Given the description of an element on the screen output the (x, y) to click on. 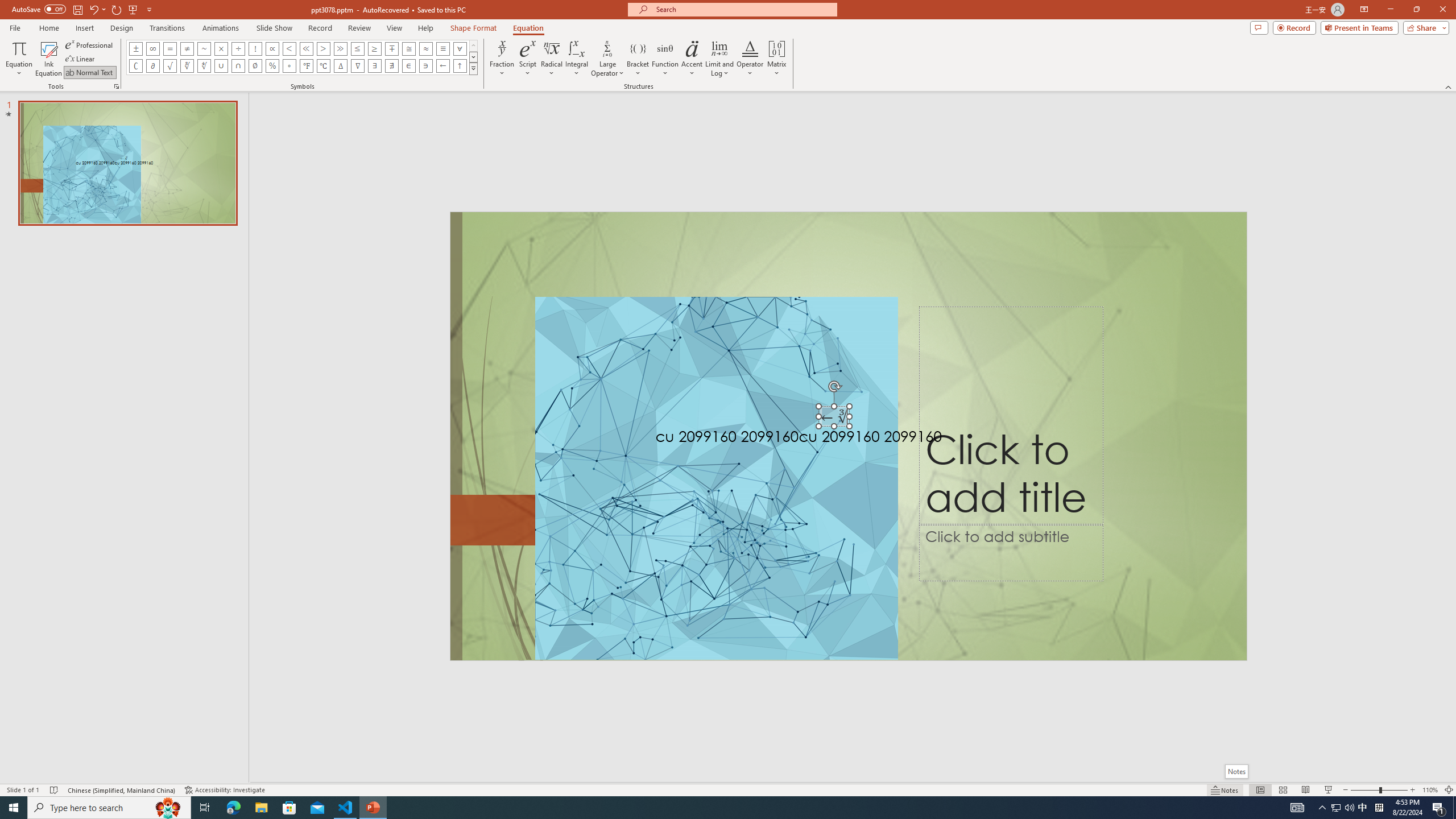
Zoom 110% (1430, 790)
Equation Symbol Approximately (203, 48)
Equation Symbol Greater Than (322, 48)
Bracket (638, 58)
Shape Format (473, 28)
Linear (81, 58)
Equation Symbol Partial Differential (152, 65)
Ink Equation (48, 58)
Function (664, 58)
Operator (749, 58)
